Given the description of an element on the screen output the (x, y) to click on. 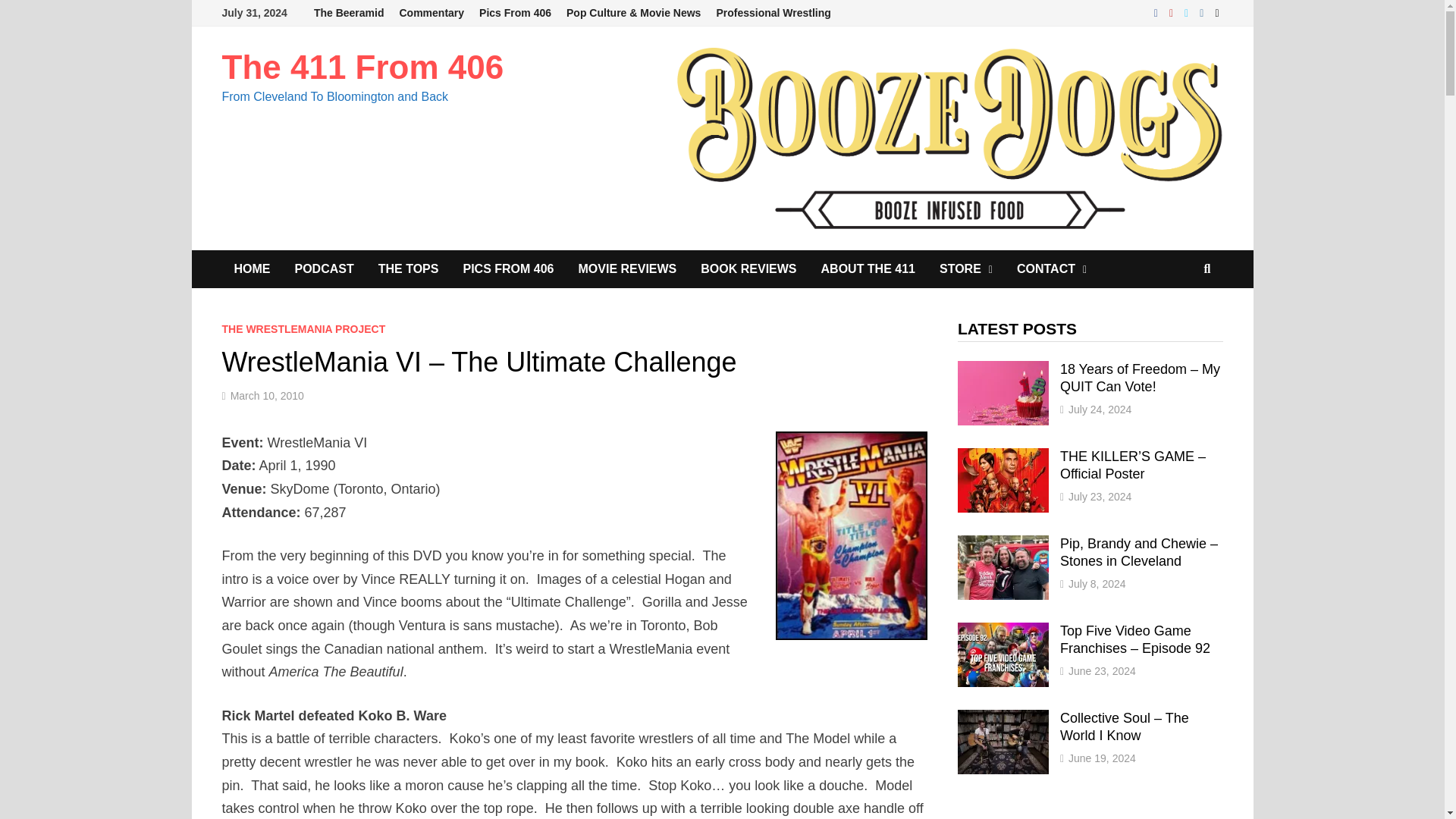
THE TOPS (408, 269)
HOME (251, 269)
CONTACT (1051, 269)
Twitter (1187, 11)
ABOUT THE 411 (868, 269)
Instagram (1203, 11)
PICS FROM 406 (507, 269)
MOVIE REVIEWS (627, 269)
BOOK REVIEWS (748, 269)
Youtube (1173, 11)
Facebook (1158, 11)
The 411 From 406 (362, 66)
STORE (965, 269)
Commentary (431, 13)
Professional Wrestling (772, 13)
